Given the description of an element on the screen output the (x, y) to click on. 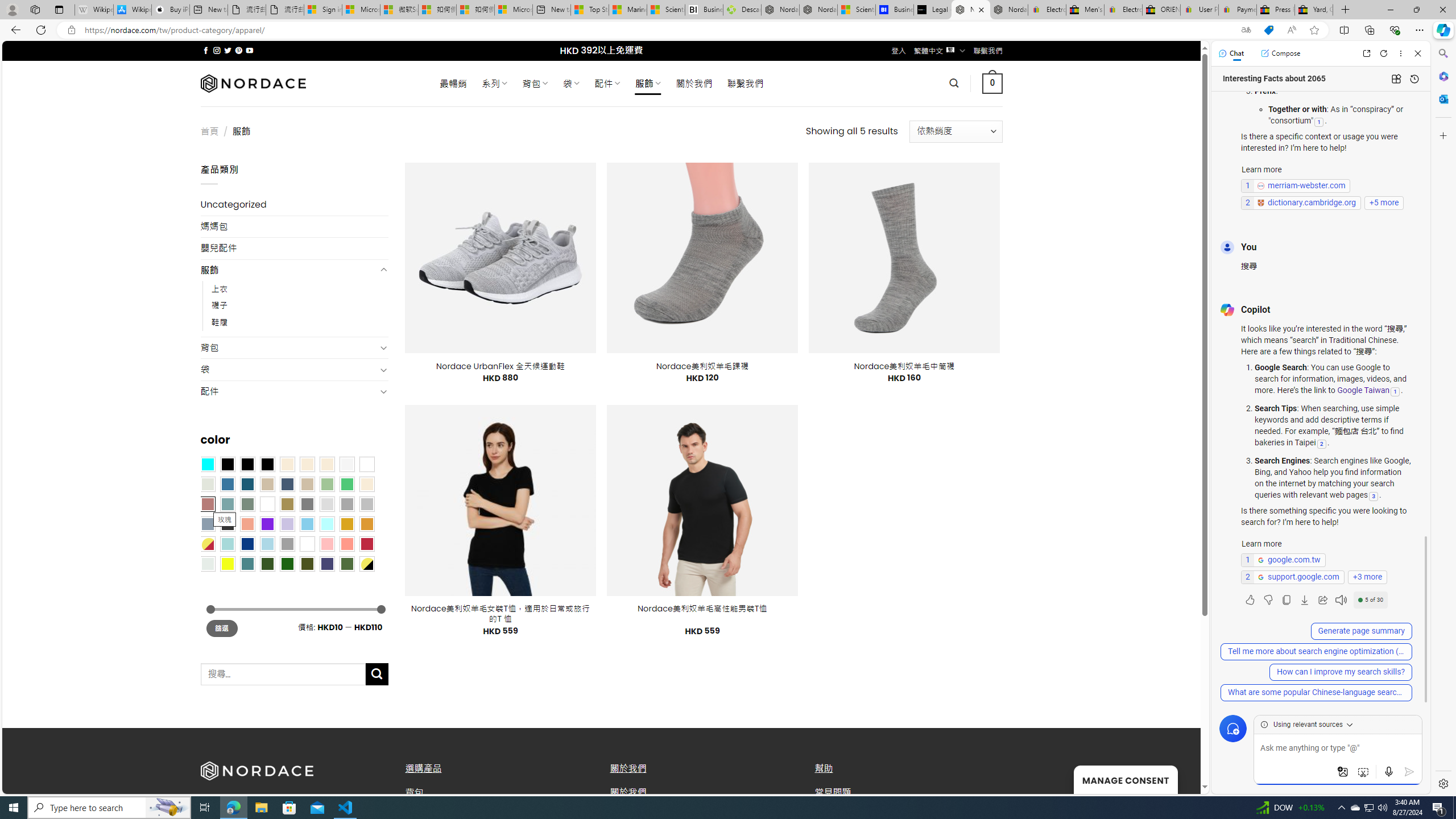
MANAGE CONSENT (1125, 779)
Compose (1280, 52)
